Given the description of an element on the screen output the (x, y) to click on. 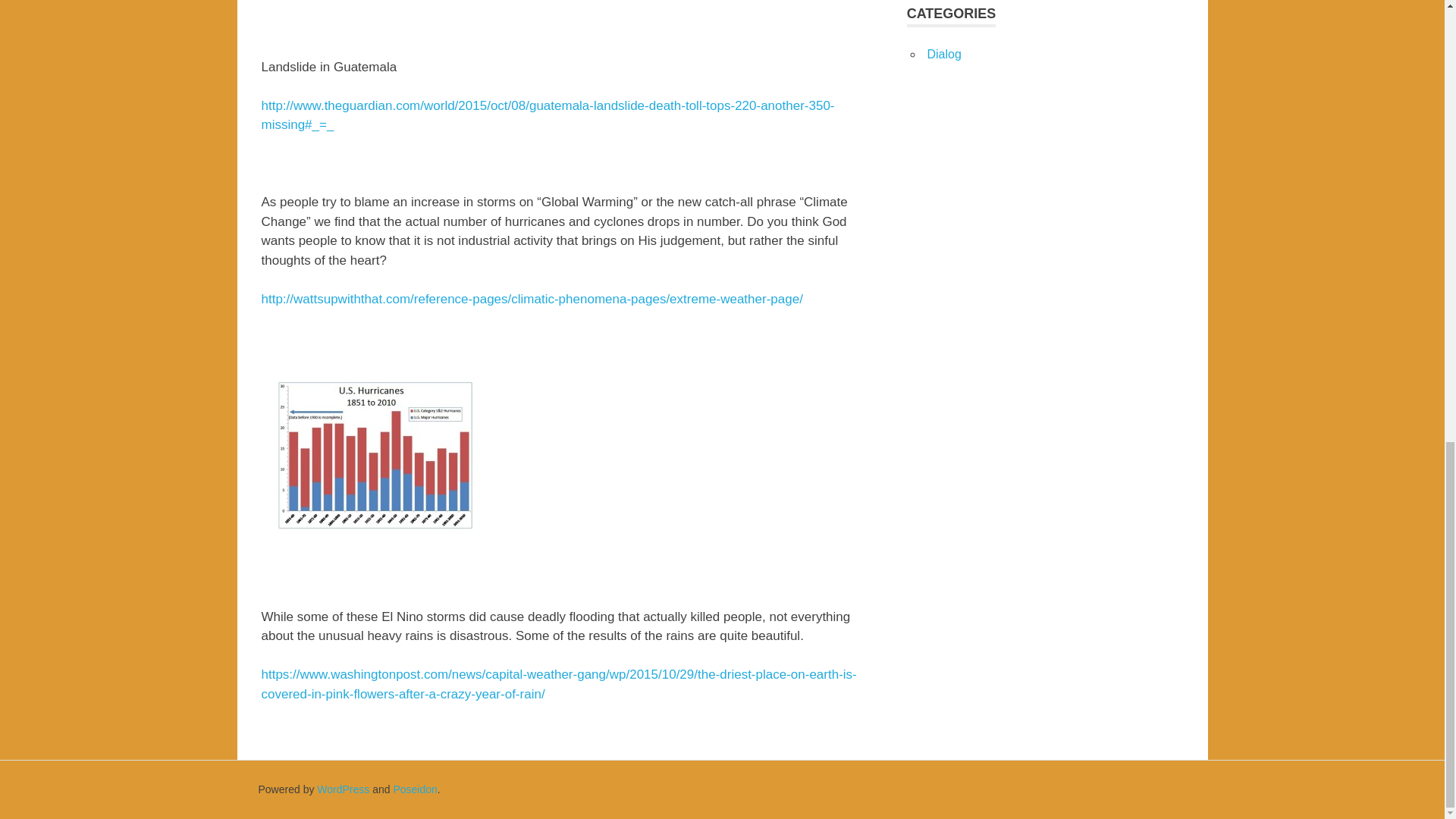
WordPress (343, 788)
Poseidon WordPress Theme (414, 788)
